Given the description of an element on the screen output the (x, y) to click on. 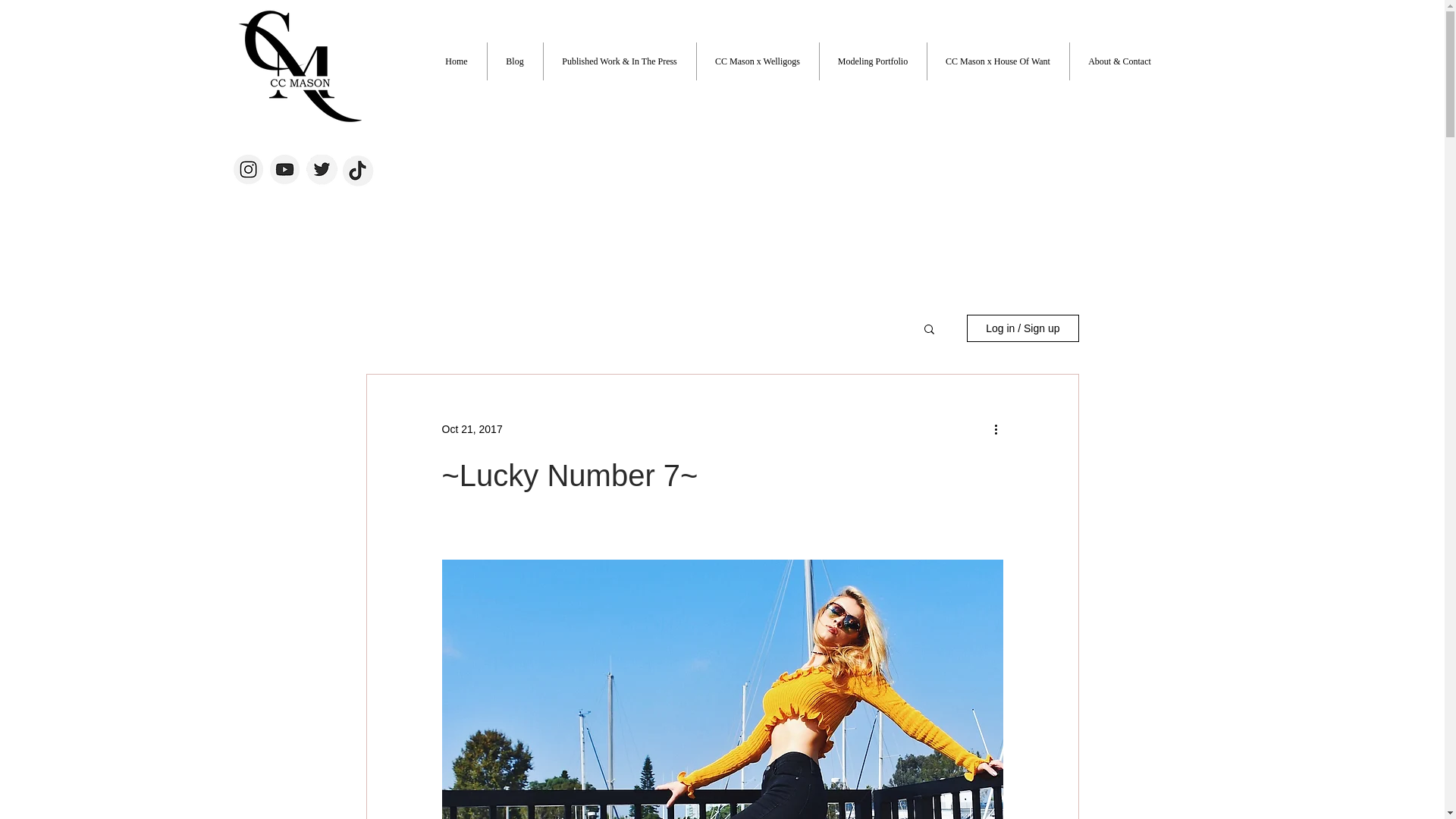
CC Mason x House Of Want (997, 61)
Modeling Portfolio (872, 61)
Home (456, 61)
CC Mason x Welligogs (756, 61)
Blog (513, 61)
Oct 21, 2017 (471, 428)
